Given the description of an element on the screen output the (x, y) to click on. 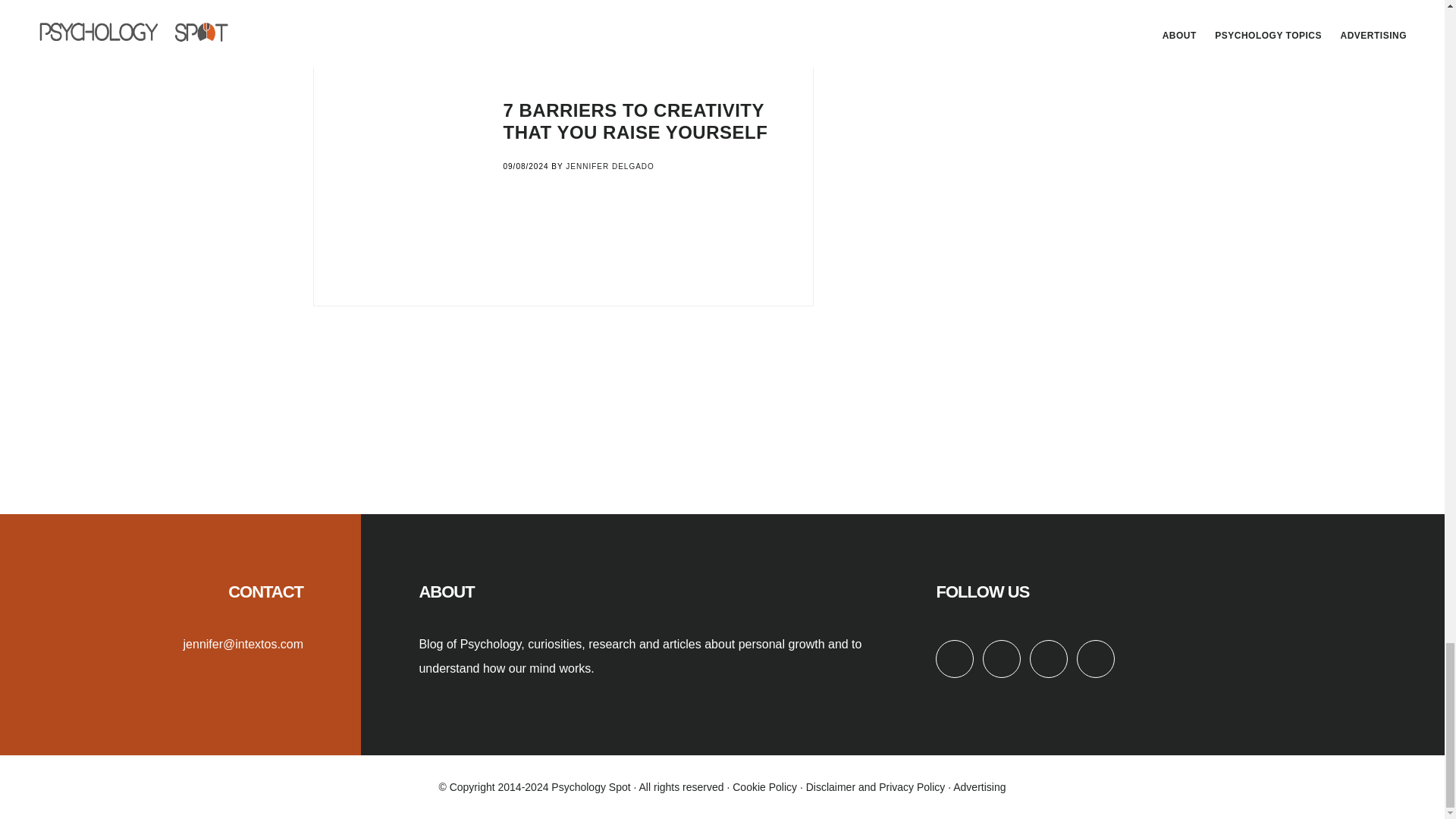
7 BARRIERS TO CREATIVITY THAT YOU RAISE YOURSELF (635, 120)
JENNIFER DELGADO (609, 166)
JENNIFER DELGADO (609, 1)
